Given the description of an element on the screen output the (x, y) to click on. 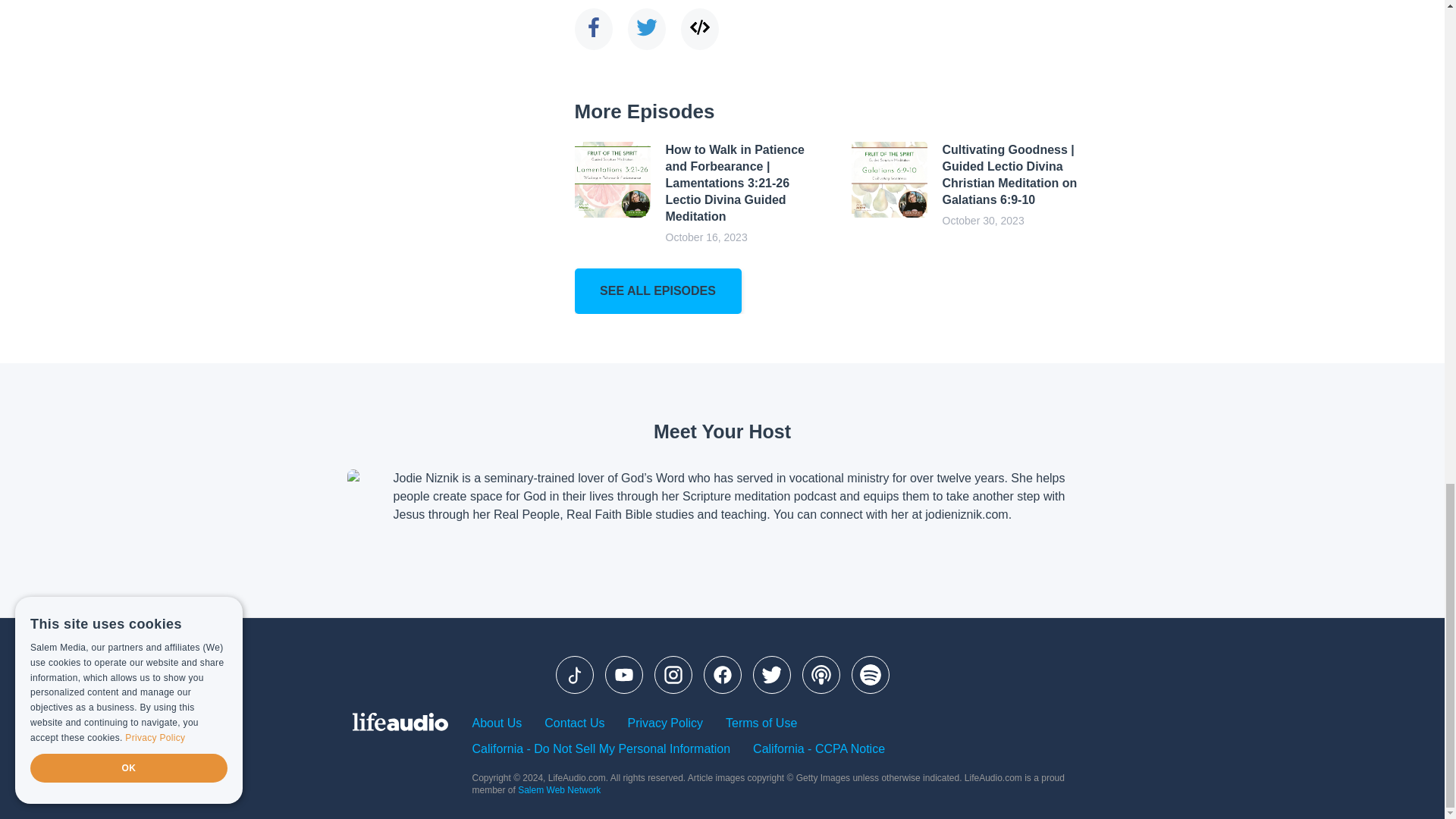
SEE ALL EPISODES (658, 290)
About Us (496, 723)
jodieniznik.com (965, 513)
